Given the description of an element on the screen output the (x, y) to click on. 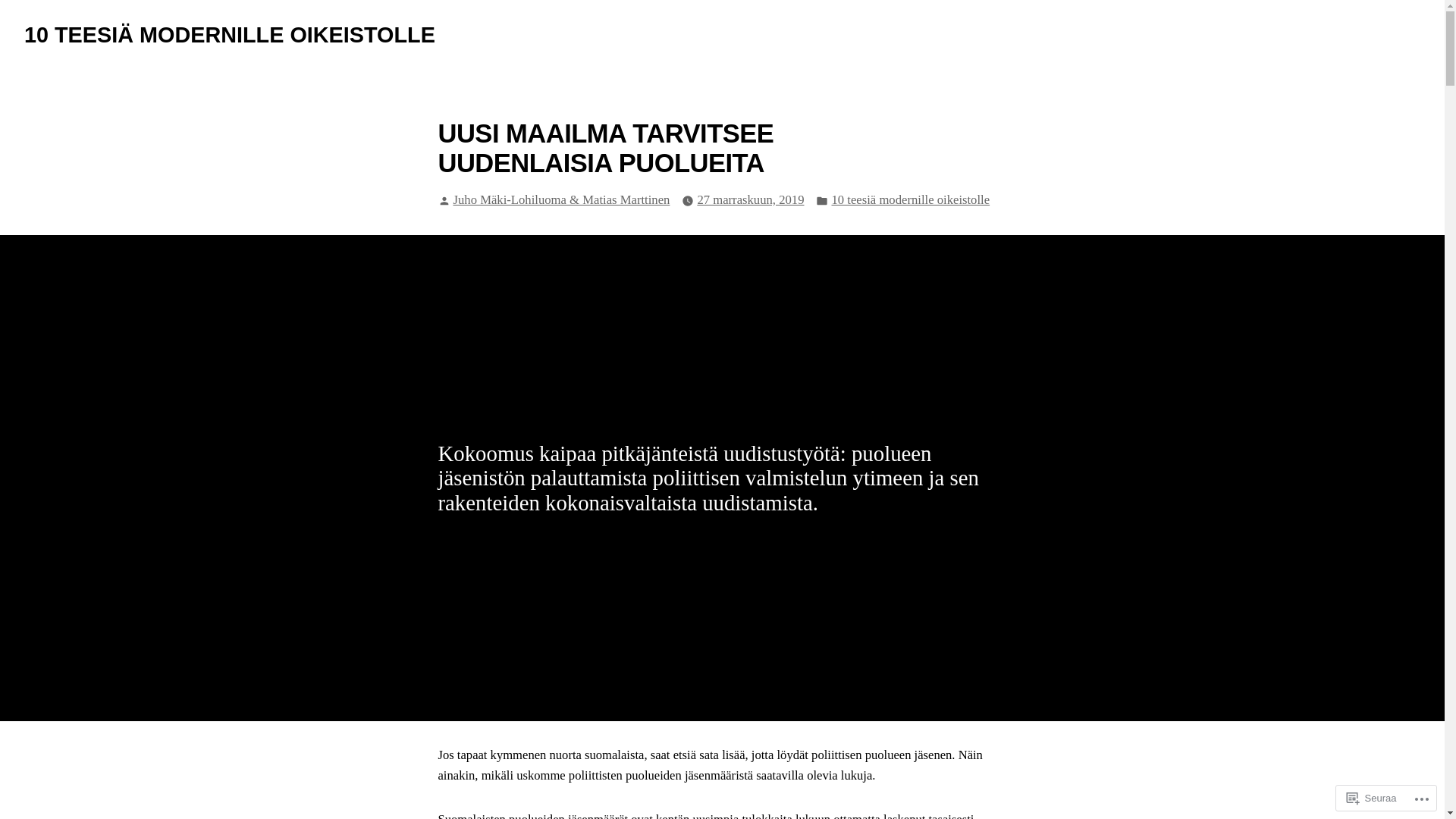
Seuraa Element type: text (1371, 797)
27 marraskuun, 2019 Element type: text (749, 200)
